Given the description of an element on the screen output the (x, y) to click on. 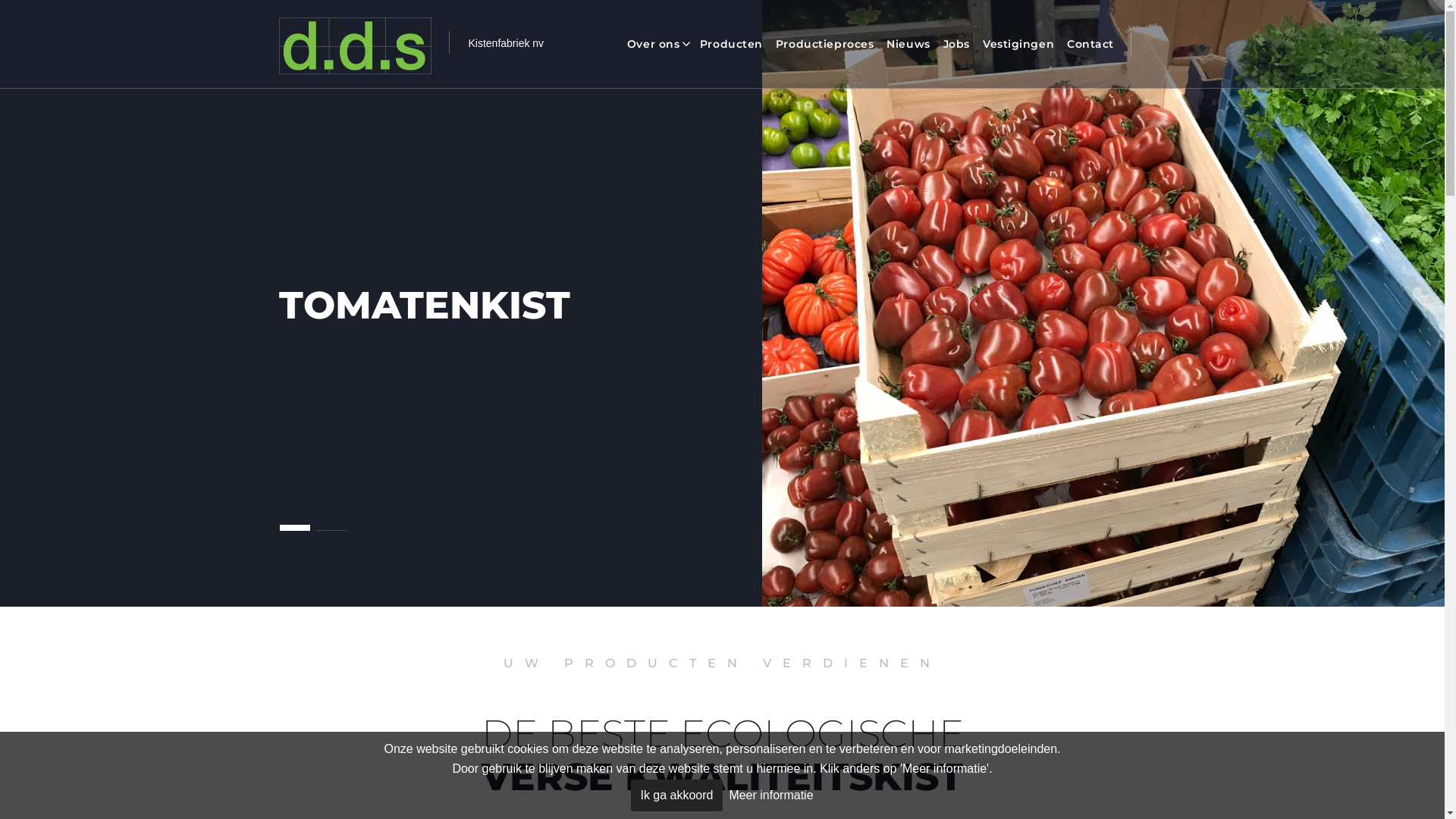
Productieproces Element type: text (824, 43)
Jobs Element type: text (956, 43)
Contact Element type: text (1089, 43)
Ik ga akkoord Element type: text (675, 795)
Meer informatie Element type: text (770, 794)
Producten Element type: text (730, 43)
Over ons Element type: text (660, 43)
Vestigingen Element type: text (1018, 43)
Nieuws Element type: text (907, 43)
